Given the description of an element on the screen output the (x, y) to click on. 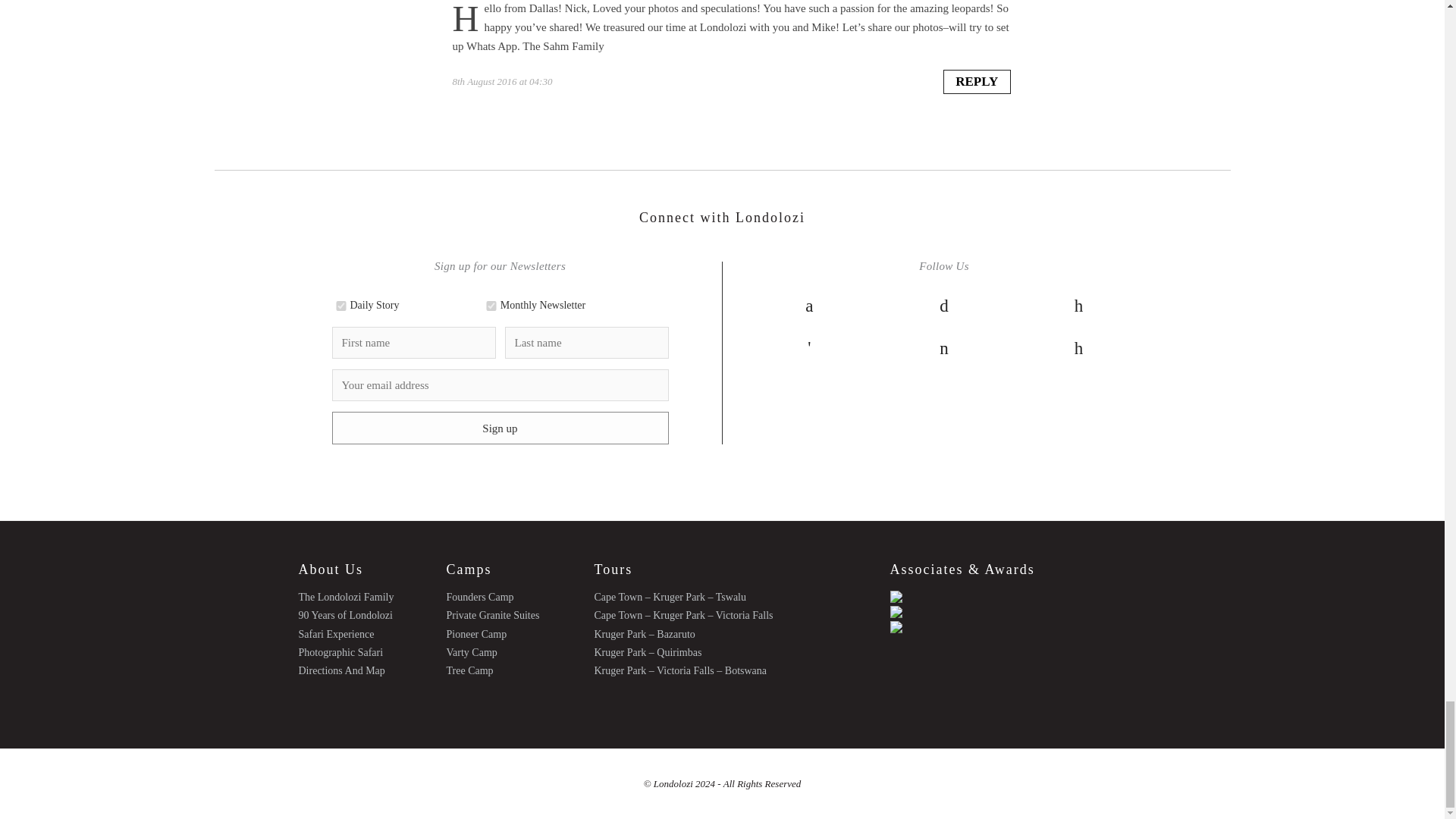
on (490, 306)
Sign up (499, 427)
on (340, 306)
